Given the description of an element on the screen output the (x, y) to click on. 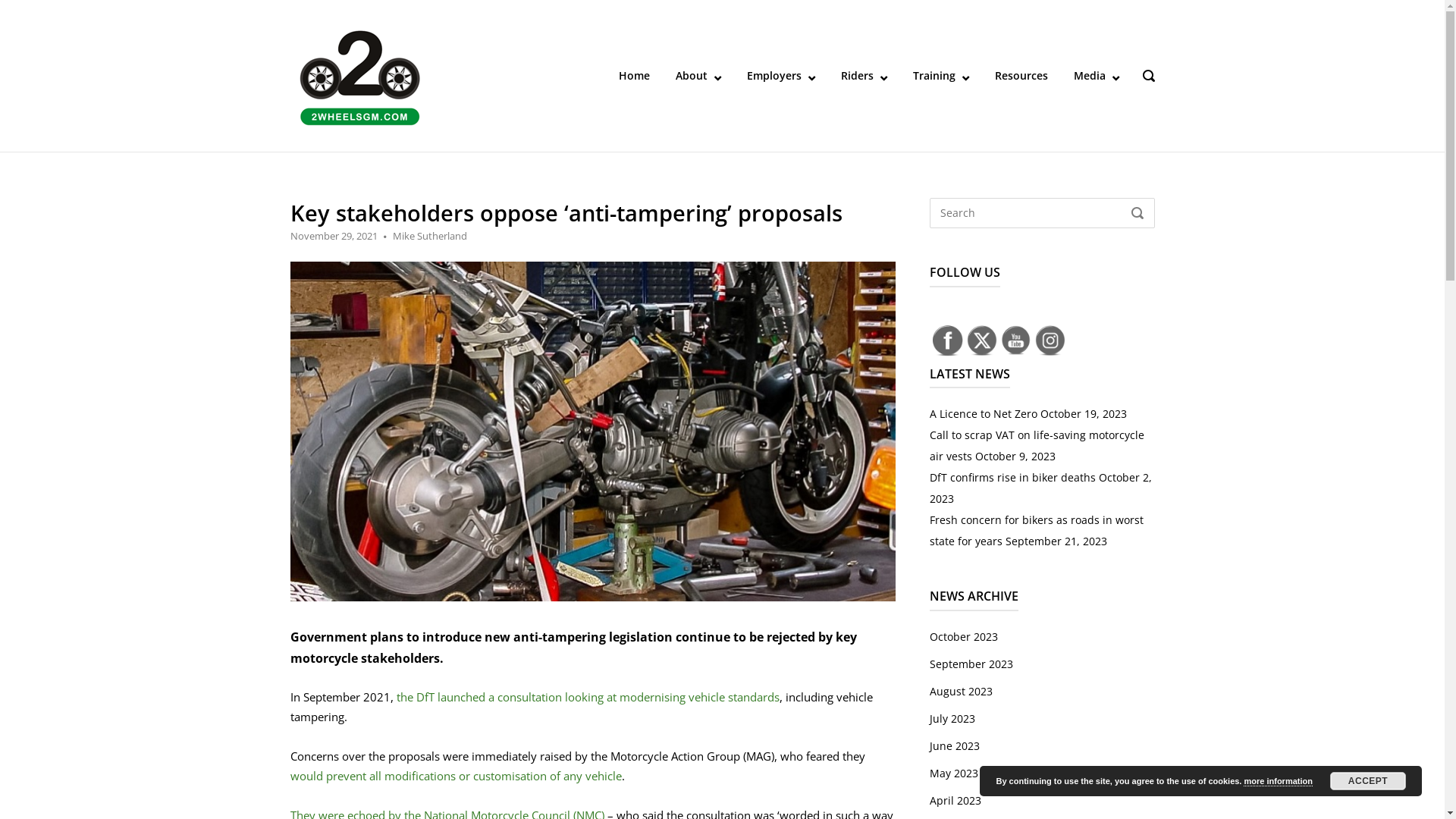
Training Element type: text (941, 75)
Facebook Element type: hover (947, 340)
SEARCH Element type: text (1136, 213)
April 2023 Element type: text (955, 800)
more information Element type: text (1277, 781)
May 2023 Element type: text (953, 773)
Home Element type: text (633, 75)
Call to scrap VAT on life-saving motorcycle air vests Element type: text (1036, 445)
OPEN SEARCH BAR Element type: text (1148, 76)
Employers Element type: text (780, 75)
About Element type: text (697, 75)
Home Element type: text (359, 73)
Fresh concern for bikers as roads in worst state for years Element type: text (1036, 530)
October 2023 Element type: text (963, 636)
DfT confirms rise in biker deaths Element type: text (1012, 477)
Instagram Element type: hover (1050, 340)
September 2023 Element type: text (971, 663)
June 2023 Element type: text (954, 745)
Mike Sutherland Element type: text (429, 235)
Media Element type: text (1096, 75)
August 2023 Element type: text (960, 691)
Twitter Element type: hover (981, 340)
July 2023 Element type: text (952, 718)
A Licence to Net Zero Element type: text (983, 413)
ACCEPT Element type: text (1367, 780)
Resources Element type: text (1021, 75)
YouTube Element type: hover (1016, 340)
Riders Element type: text (863, 75)
